Given the description of an element on the screen output the (x, y) to click on. 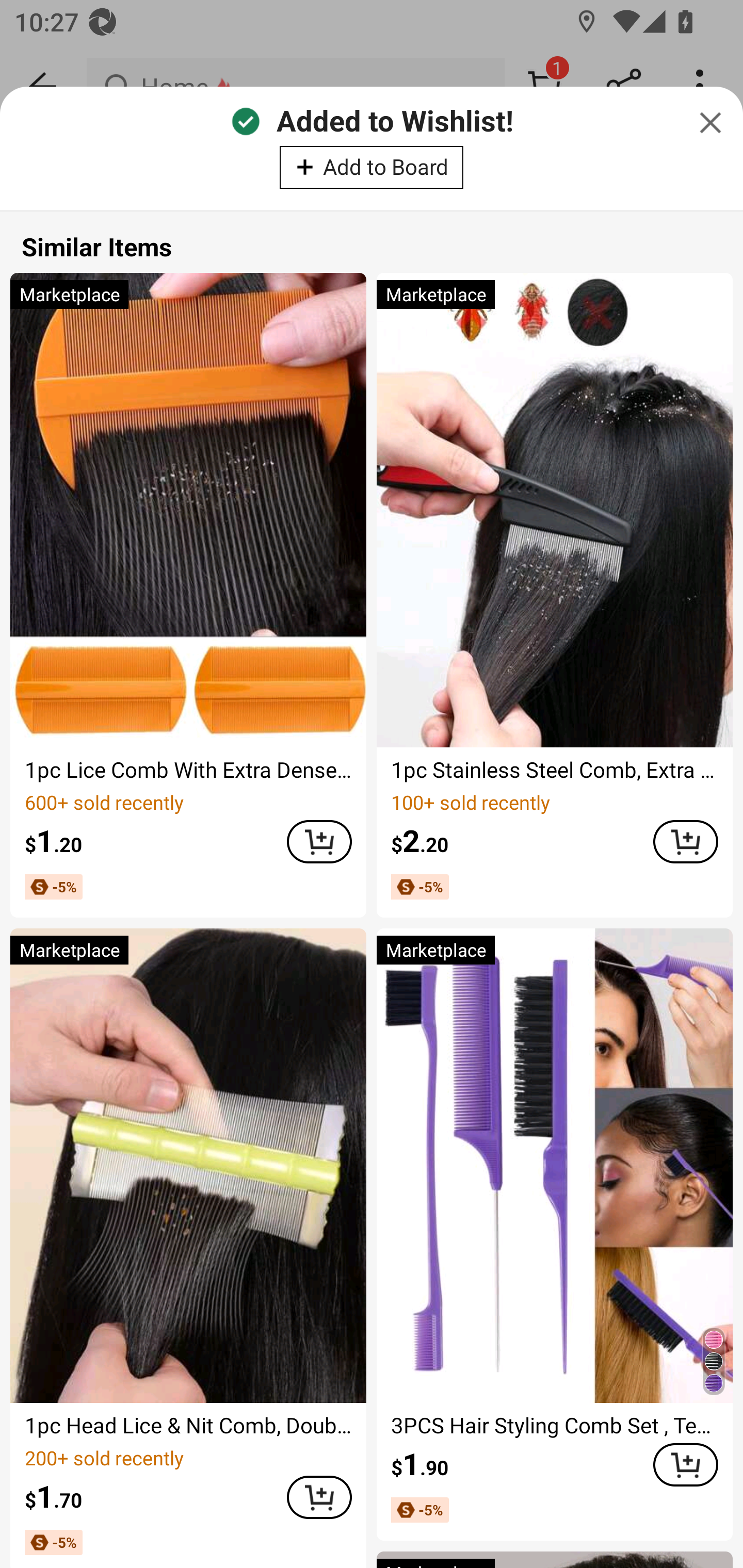
Add to Board (371, 166)
ADD TO CART (319, 841)
ADD TO CART (685, 841)
ADD TO CART (685, 1464)
ADD TO CART (319, 1497)
